Given the description of an element on the screen output the (x, y) to click on. 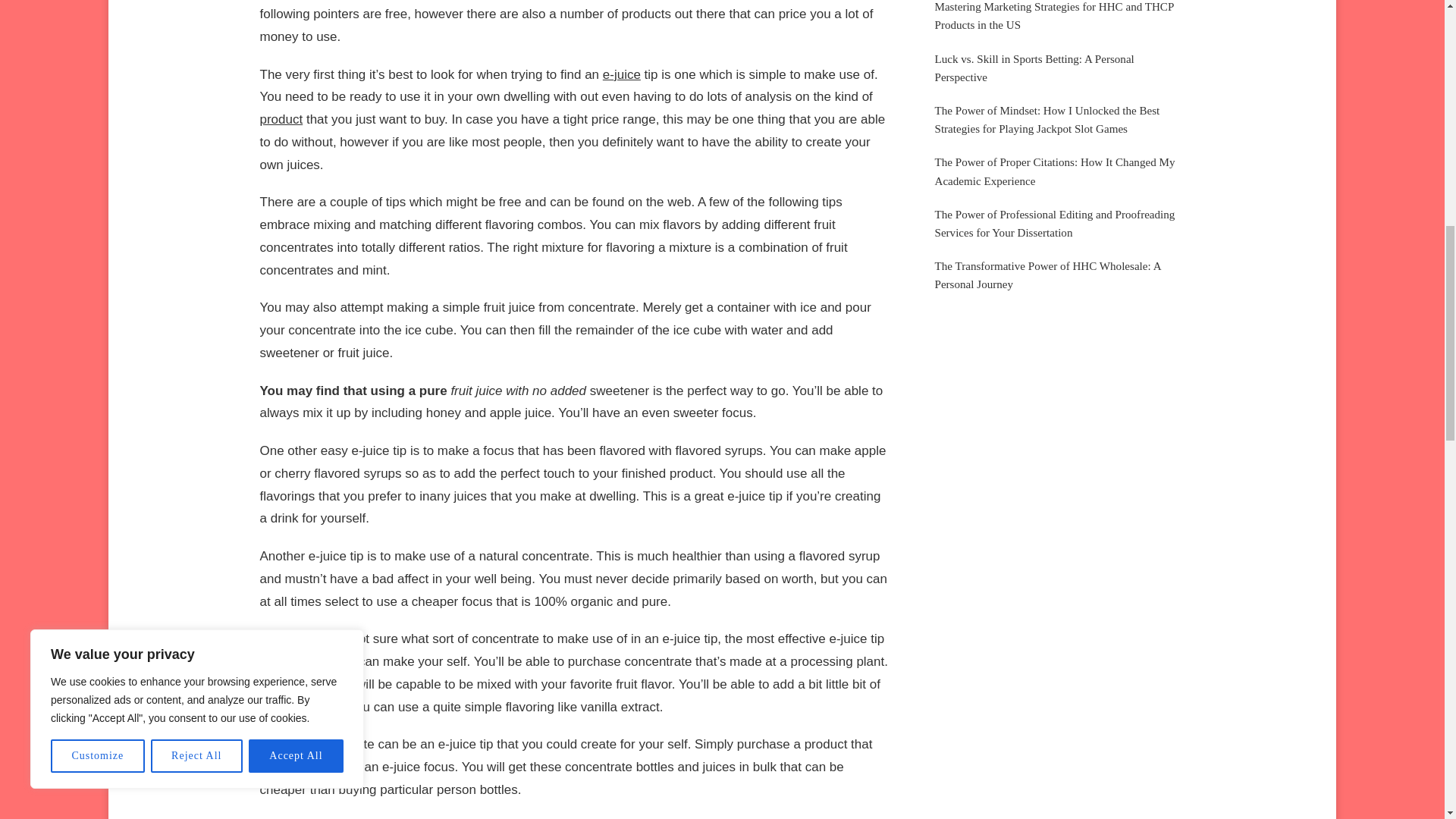
e-juice (621, 74)
product (280, 119)
